Given the description of an element on the screen output the (x, y) to click on. 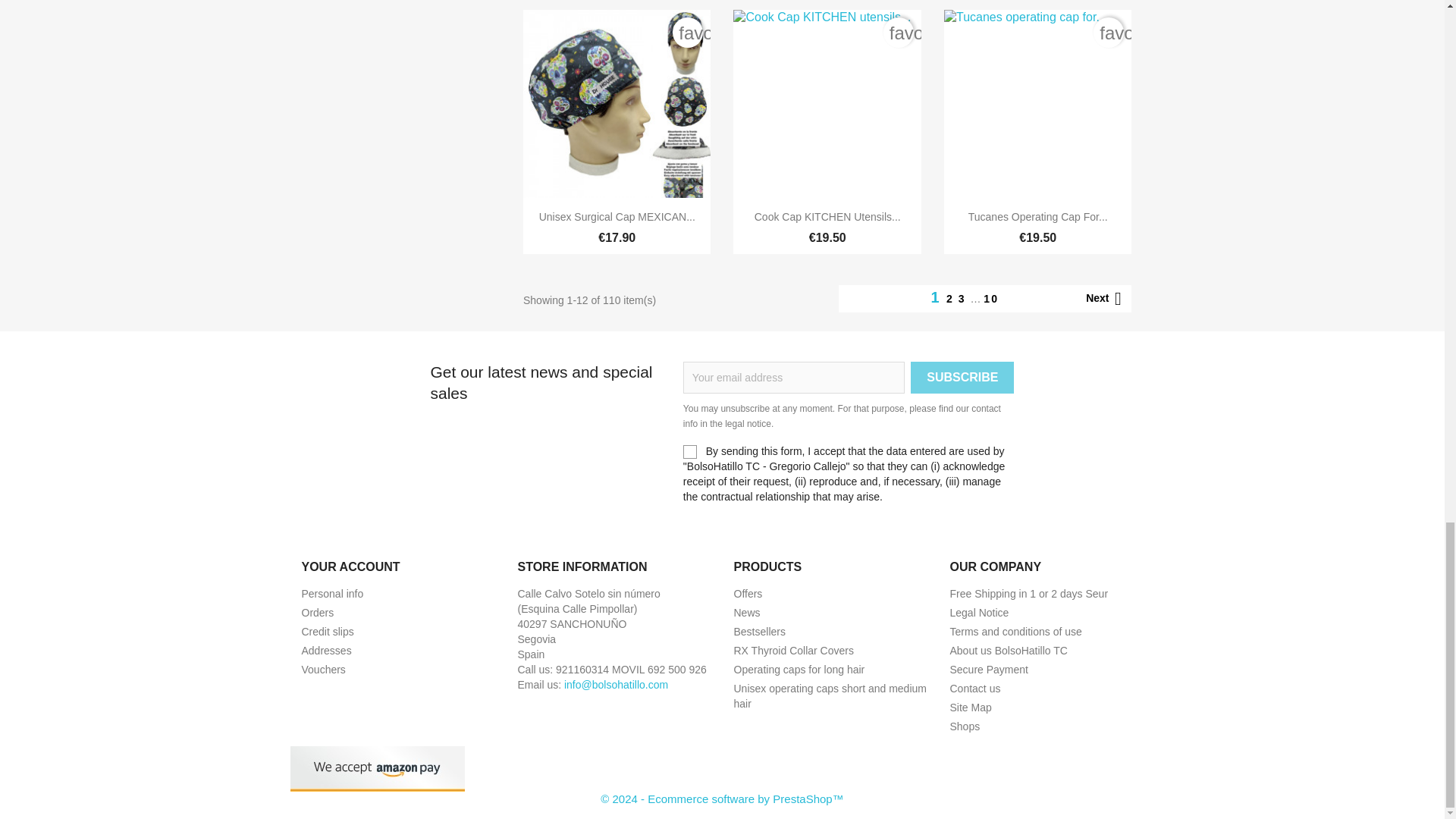
Subscribe (962, 377)
Credit slips (327, 631)
Our terms and conditions of delivery (1028, 593)
Bestsellers (759, 631)
Personal info (332, 593)
Orders (317, 612)
News (746, 612)
Terms and conditions of use BolsoHatillo (1015, 631)
Legal notice (979, 612)
Our special products (747, 593)
Vouchers (323, 669)
Addresses (326, 650)
